Given the description of an element on the screen output the (x, y) to click on. 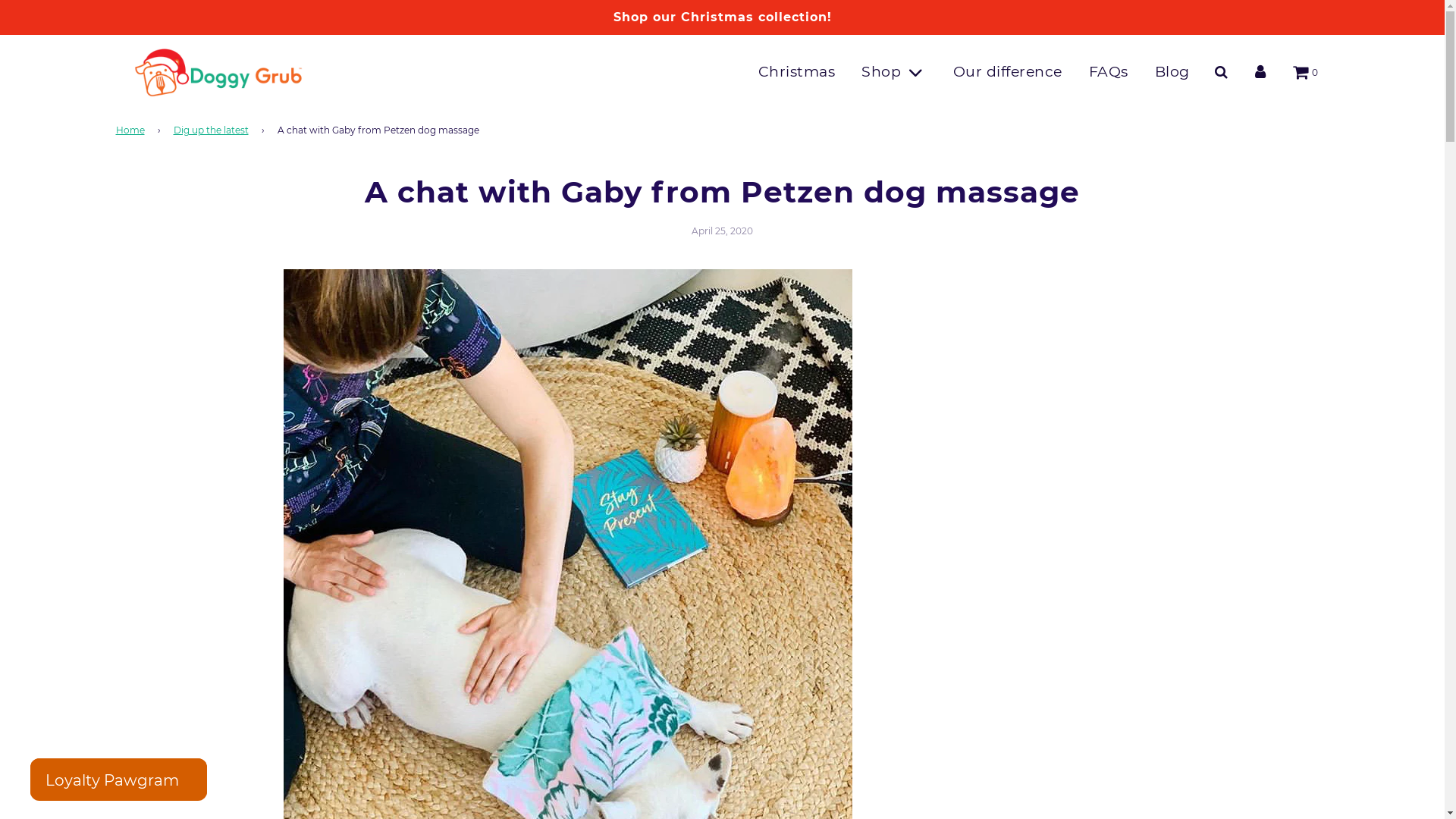
Log in Element type: hover (1259, 72)
Shop Element type: text (893, 71)
FAQs Element type: text (1107, 71)
Home Element type: text (132, 129)
Dig up the latest Element type: text (212, 129)
0 Element type: text (1304, 72)
Shop our Christmas collection! Element type: text (722, 17)
Our difference Element type: text (1007, 71)
Blog Element type: text (1172, 71)
Christmas Element type: text (796, 71)
